Given the description of an element on the screen output the (x, y) to click on. 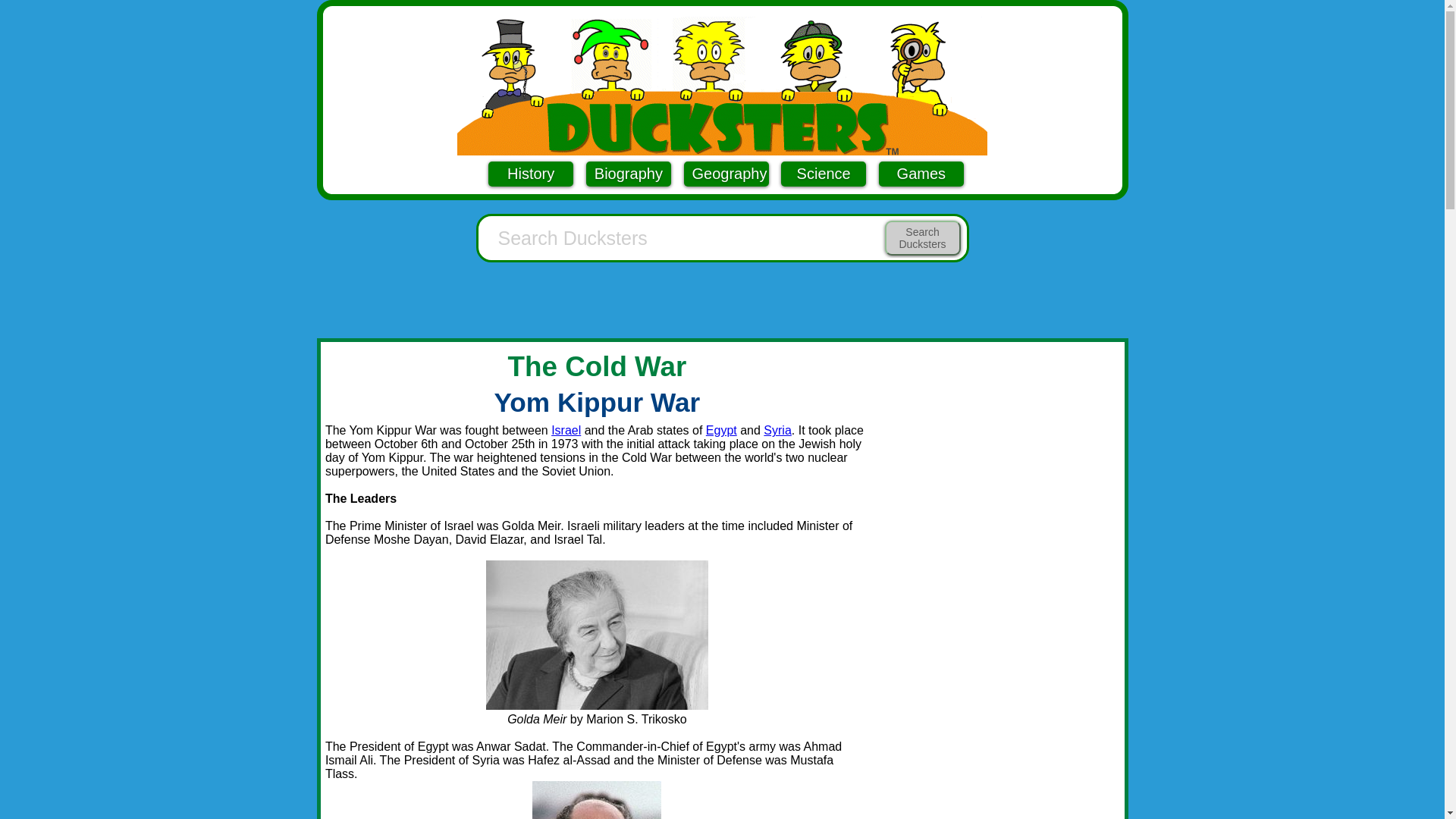
Egypt (721, 430)
Search Ducksters (921, 237)
Science (823, 173)
History (530, 173)
Israel (565, 430)
Syria (776, 430)
Games (921, 173)
Geography (726, 173)
Biography (628, 173)
